Given the description of an element on the screen output the (x, y) to click on. 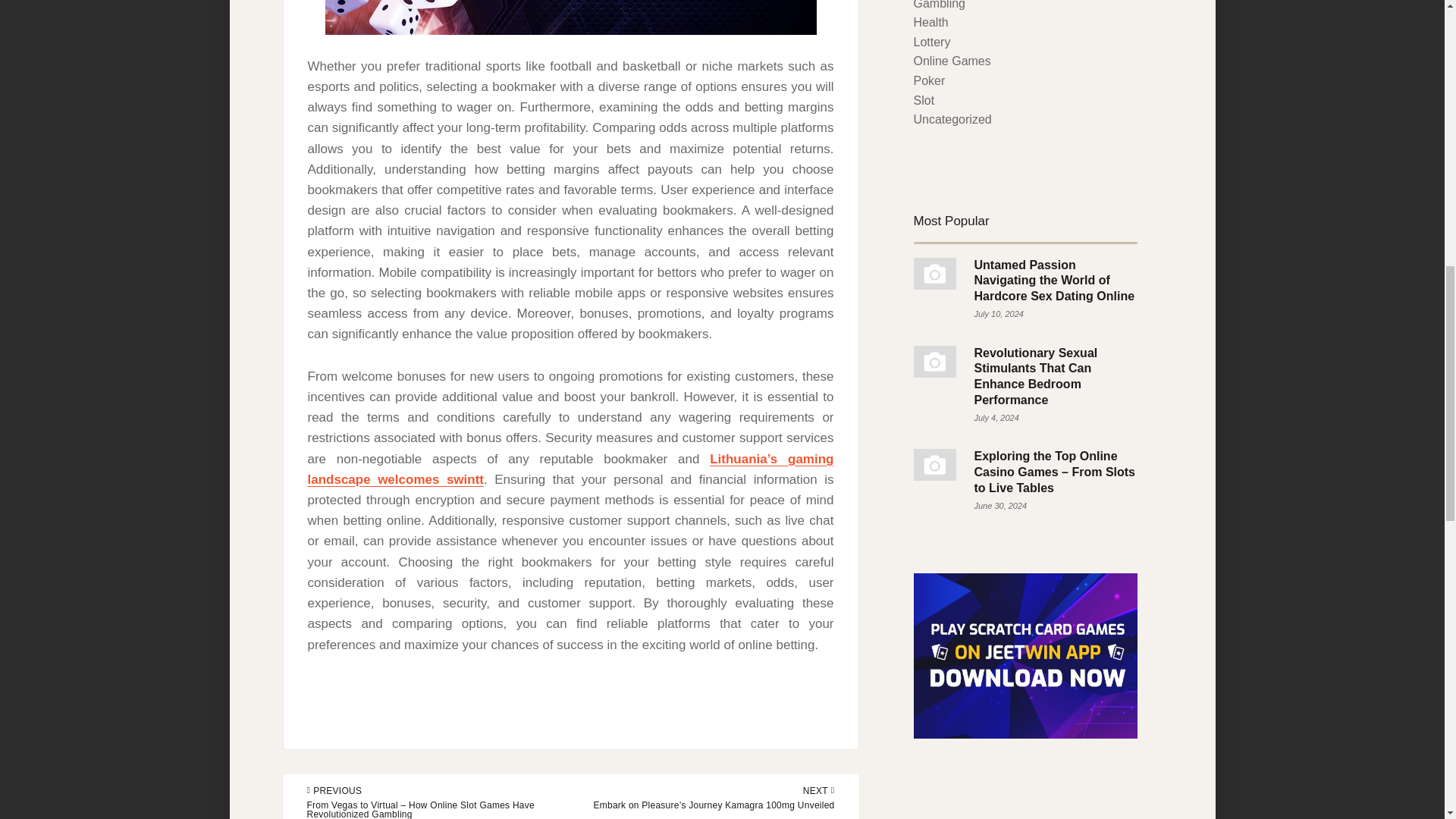
Poker (928, 80)
Uncategorized (951, 119)
Health (929, 21)
Lottery (931, 42)
Online Games (951, 60)
Gambling (937, 4)
Slot (923, 100)
